Given the description of an element on the screen output the (x, y) to click on. 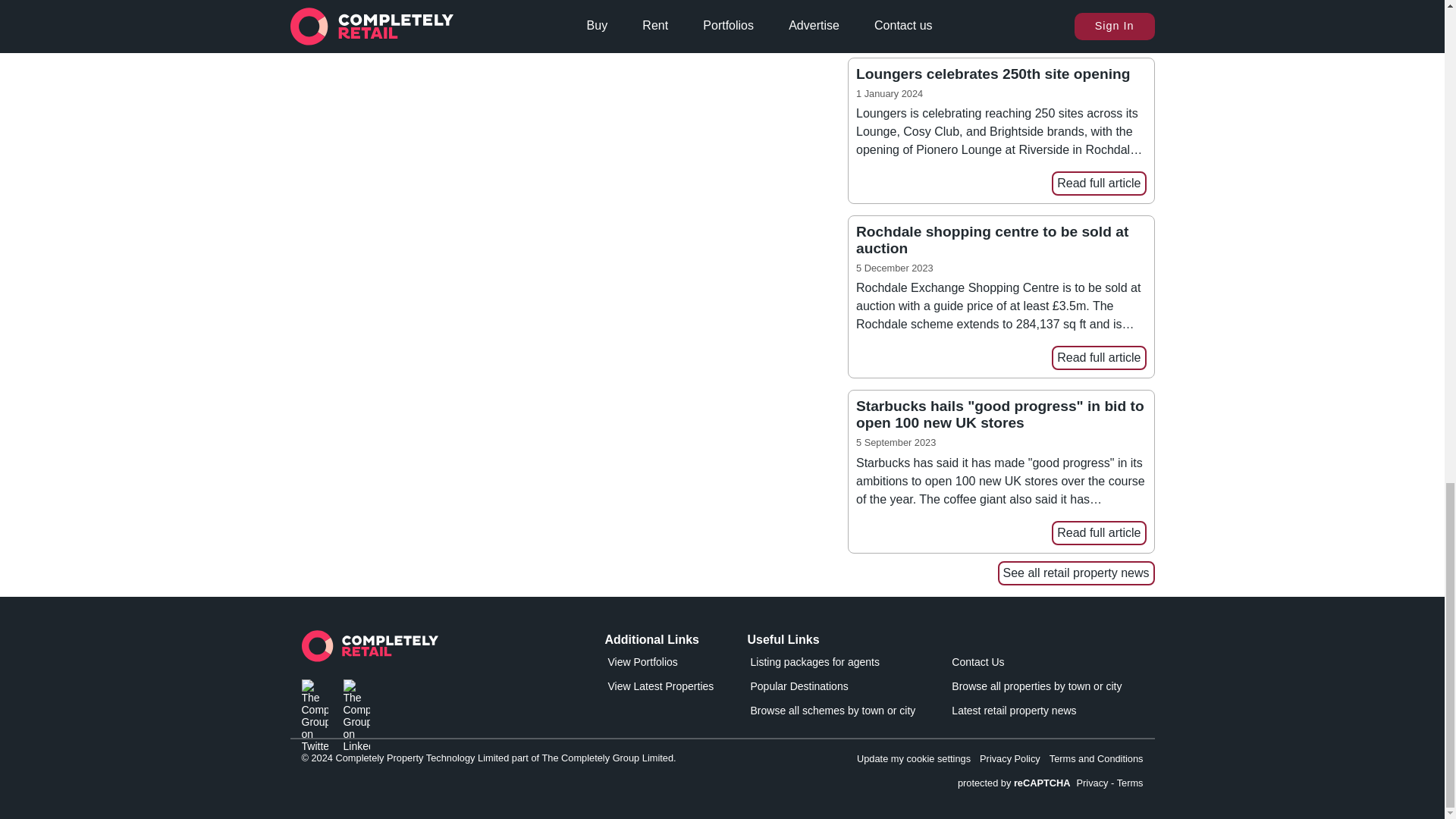
Contact Us (1036, 665)
Latest retail property news (1036, 713)
View Portfolios (673, 665)
View Latest Properties (673, 689)
Popular Destinations (833, 689)
Listing packages for agents (833, 665)
Completely Retail homepage (369, 650)
Privacy Policy (1010, 758)
Browse all schemes by town or city (833, 713)
Terms and Conditions (1095, 758)
Browse all properties by town or city (1036, 689)
